Given the description of an element on the screen output the (x, y) to click on. 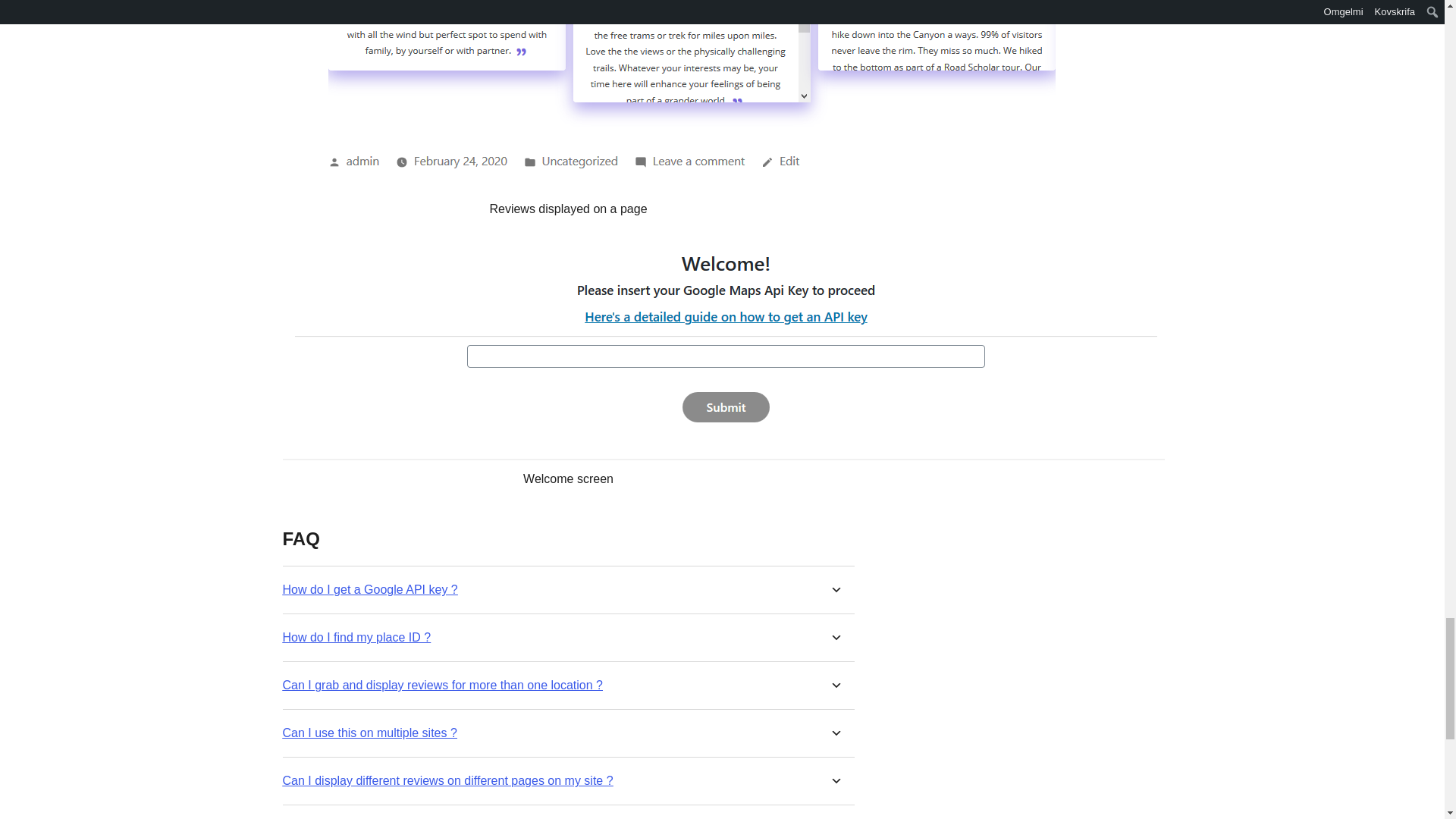
Can I use this on multiple sites ? (369, 732)
How do I find my place ID ? (356, 636)
Can I grab and display reviews for more than one location ? (442, 685)
How do I get a Google API key ? (369, 589)
